Given the description of an element on the screen output the (x, y) to click on. 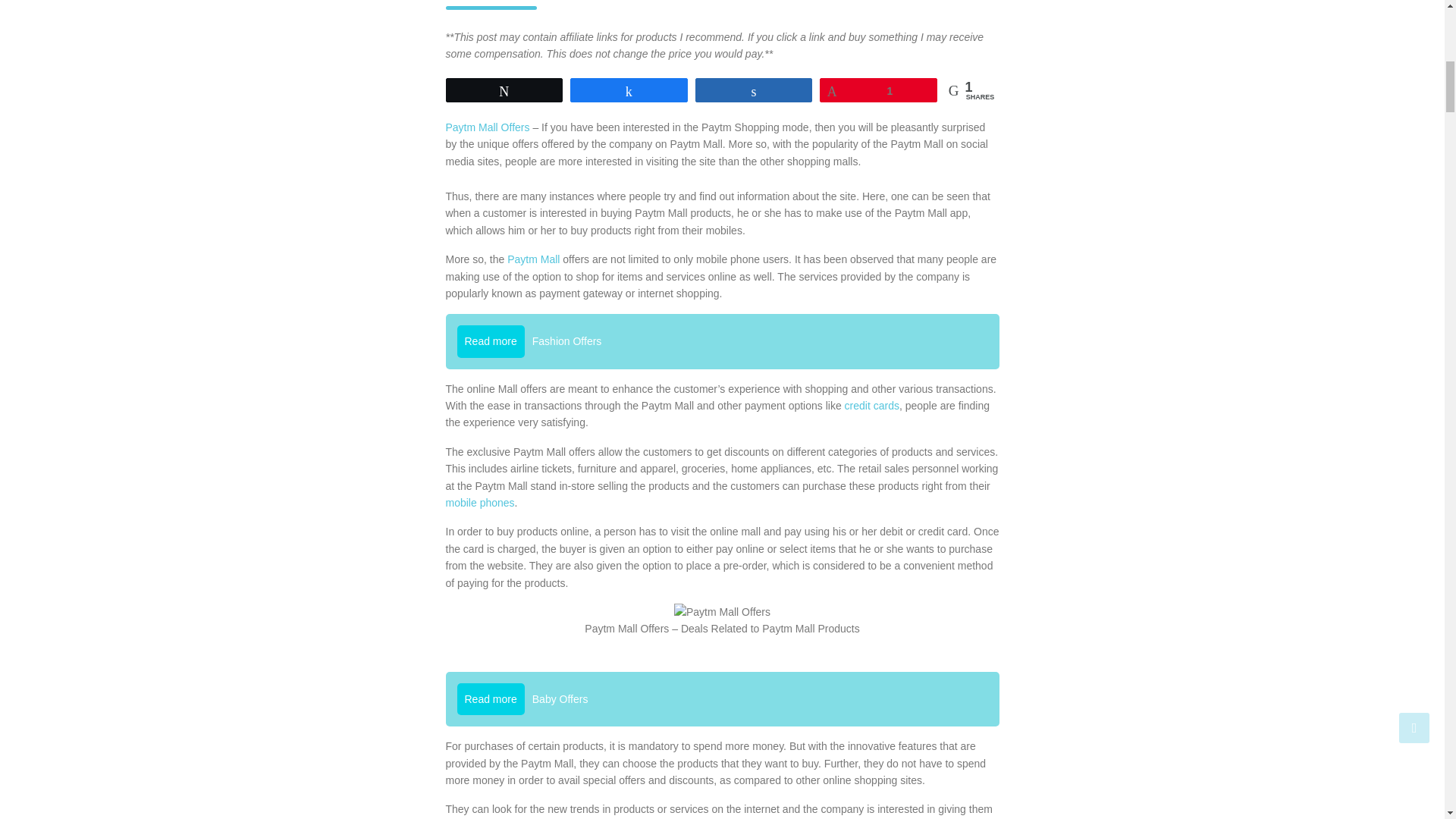
Read moreBaby Offers (721, 698)
Read moreFashion Offers (721, 340)
Paytm Mall (532, 259)
Paytm Mall Offers (488, 127)
1 (878, 89)
phones (497, 502)
credit cards (871, 405)
mobile (461, 502)
